Given the description of an element on the screen output the (x, y) to click on. 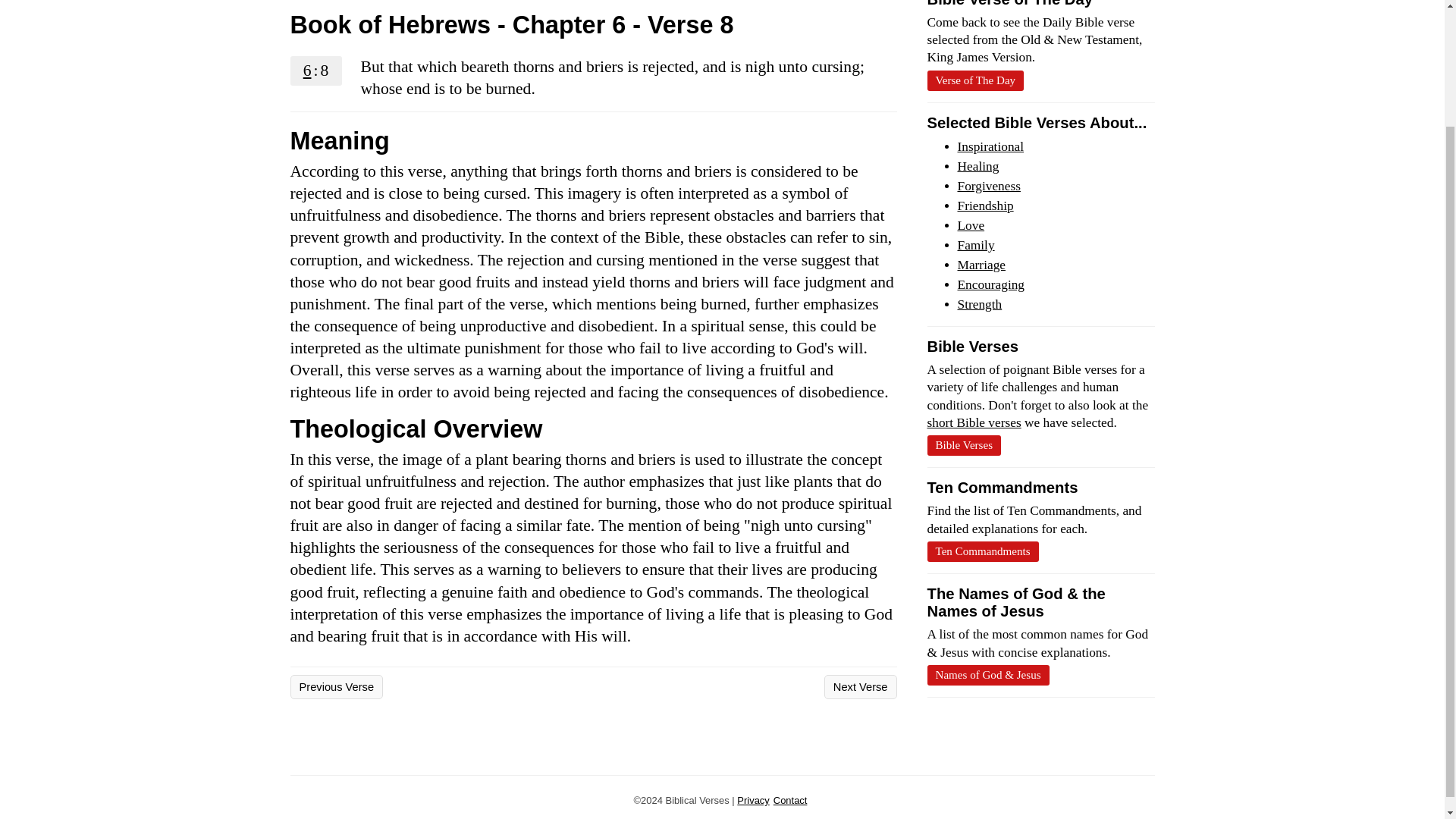
Previous Verse (335, 686)
Friendship (984, 205)
Inspirational (989, 146)
Contact (790, 799)
Strength (978, 304)
Encouraging (990, 284)
Love (970, 225)
Ten Commandments (982, 551)
Family (975, 245)
Healing (977, 165)
